Given the description of an element on the screen output the (x, y) to click on. 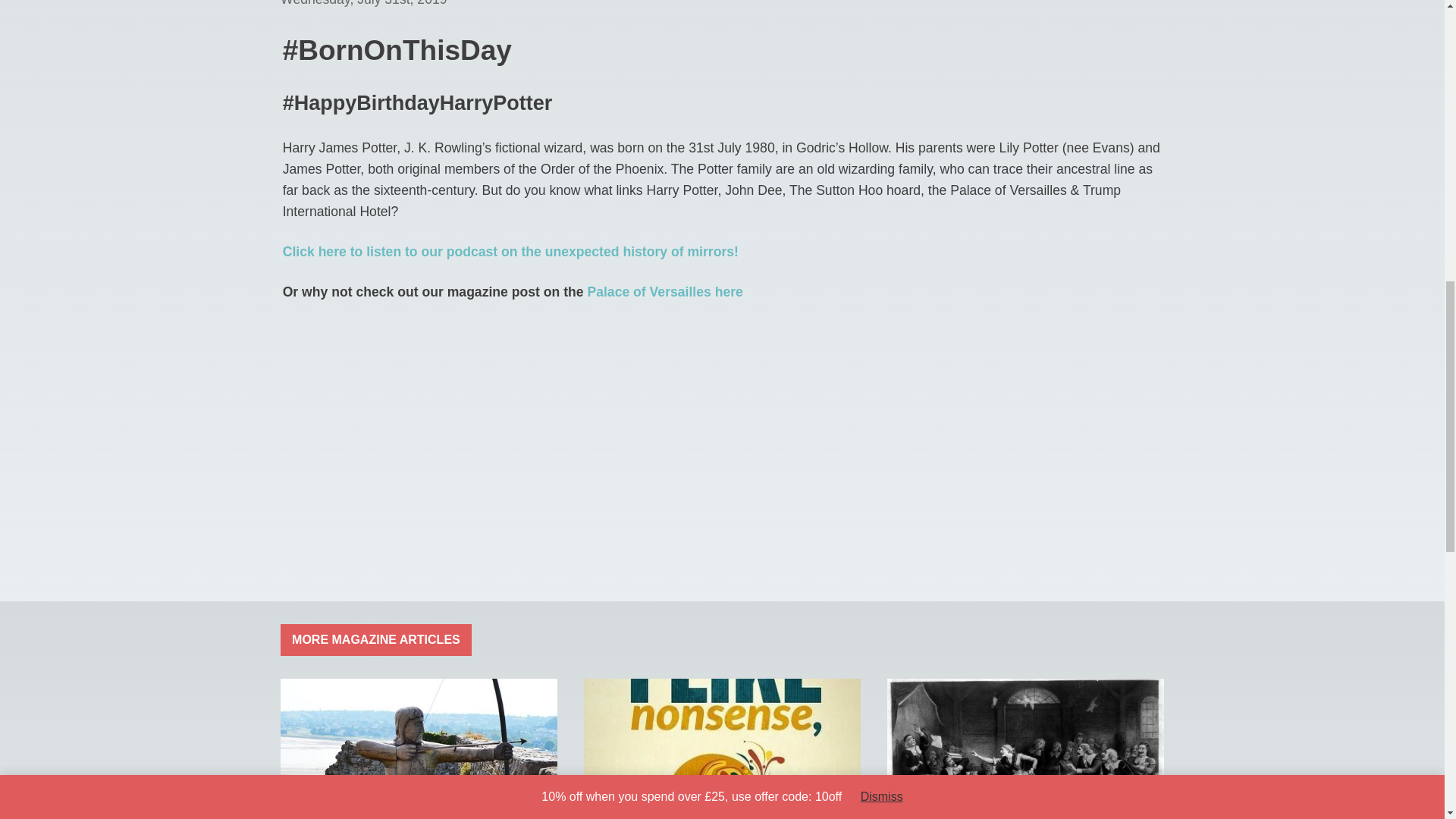
Palace of Versailles here (664, 291)
